Given the description of an element on the screen output the (x, y) to click on. 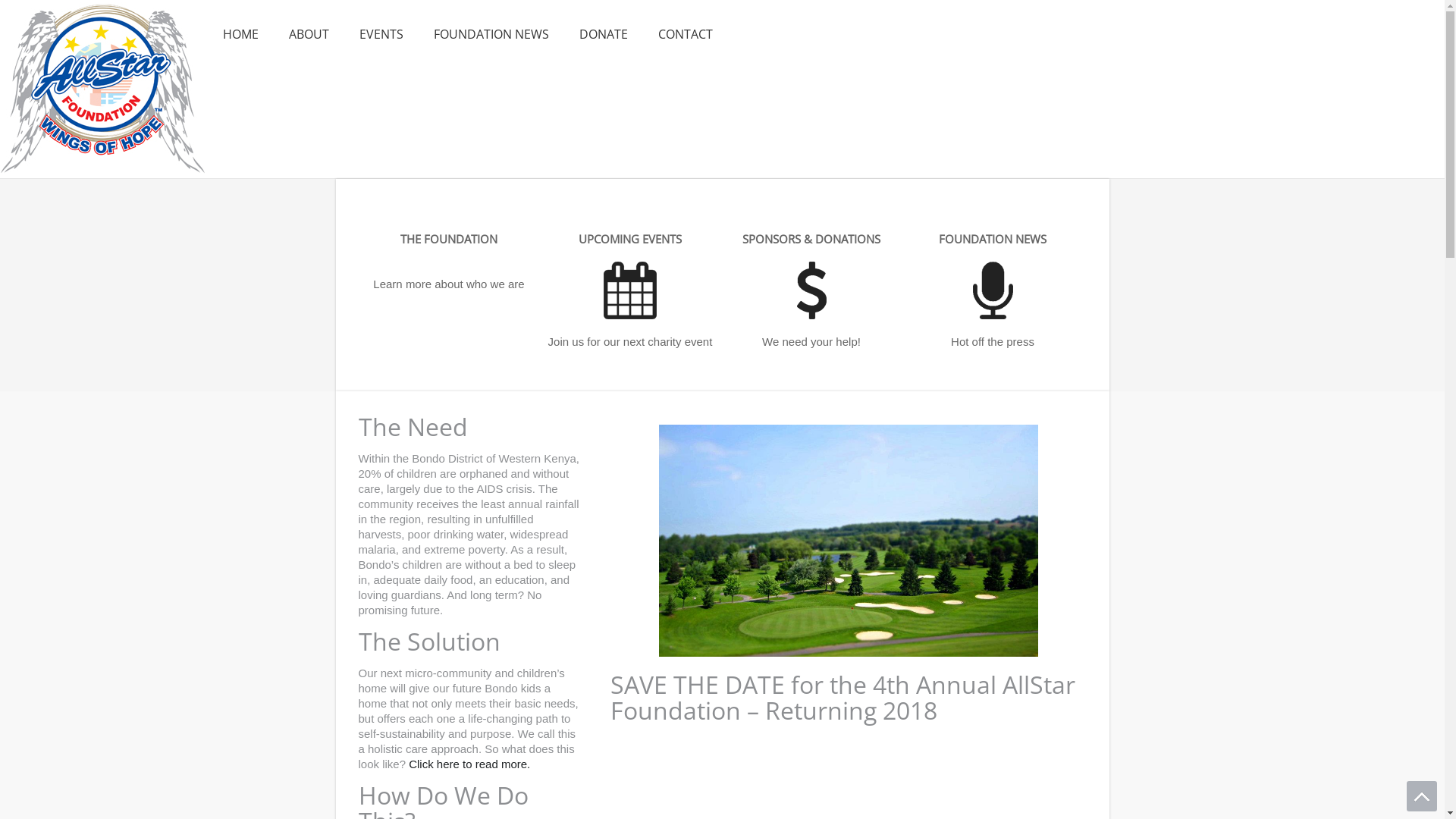
EVENTS Element type: text (381, 34)
DONATE Element type: text (603, 34)
CONTACT Element type: text (685, 34)
UPCOMING EVENTS
Join us for our next charity event Element type: text (630, 290)
ABOUT Element type: text (308, 34)
SPONSORS & DONATIONS
We need your help! Element type: text (811, 290)
THE FOUNDATION
Learn more about who we are Element type: text (448, 261)
Click here to read more. Element type: text (469, 763)
FOUNDATION NEWS Element type: text (491, 34)
HOME Element type: text (240, 34)
FOUNDATION NEWS
Hot off the press Element type: text (993, 290)
